Given the description of an element on the screen output the (x, y) to click on. 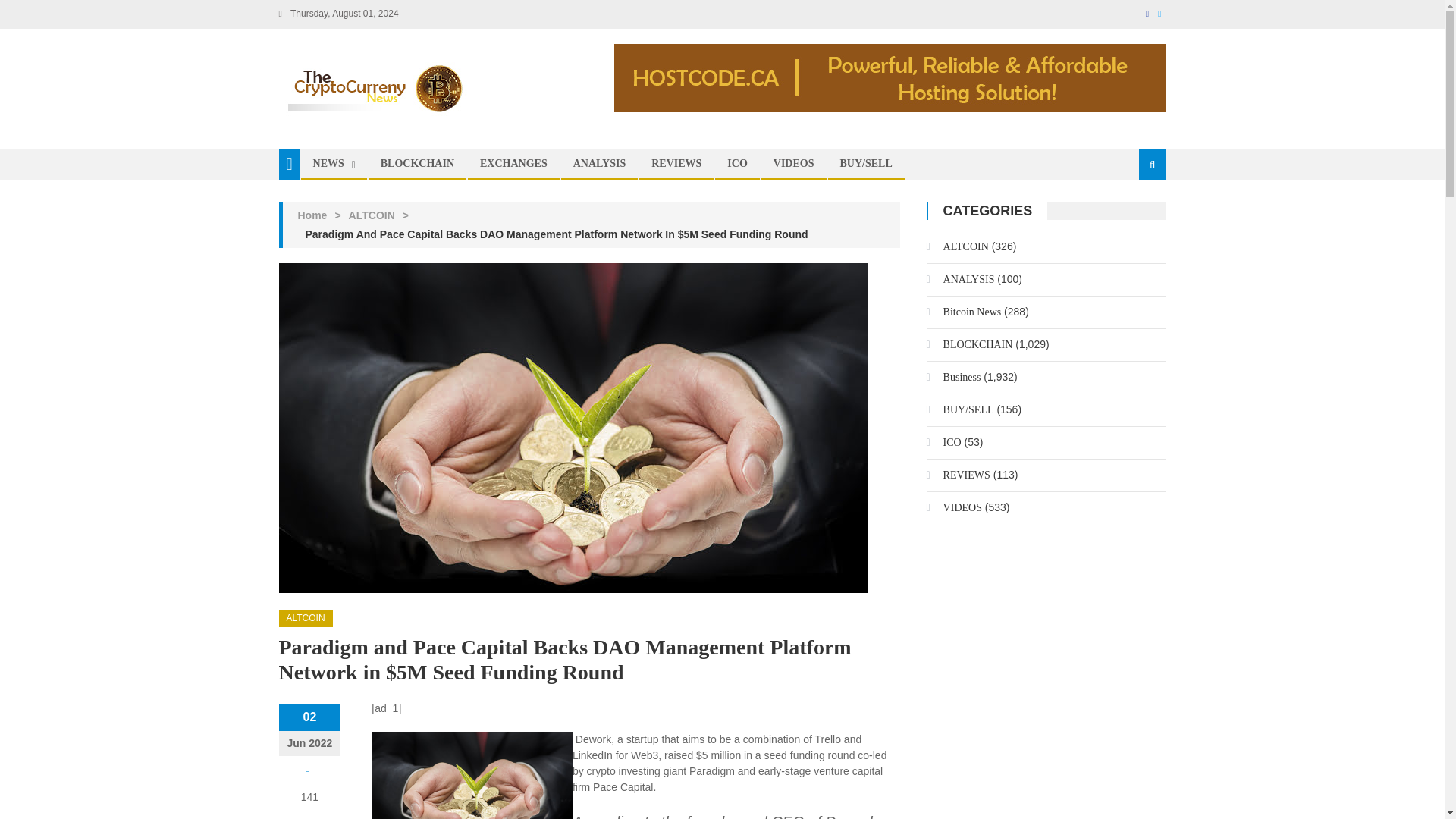
Search (1133, 215)
REVIEWS (676, 163)
ALTCOIN (306, 618)
EXCHANGES (513, 163)
VIDEOS (793, 163)
NEWS (328, 163)
ALTCOIN (371, 215)
ANALYSIS (599, 163)
BLOCKCHAIN (417, 163)
Home (311, 215)
ICO (737, 163)
